Given the description of an element on the screen output the (x, y) to click on. 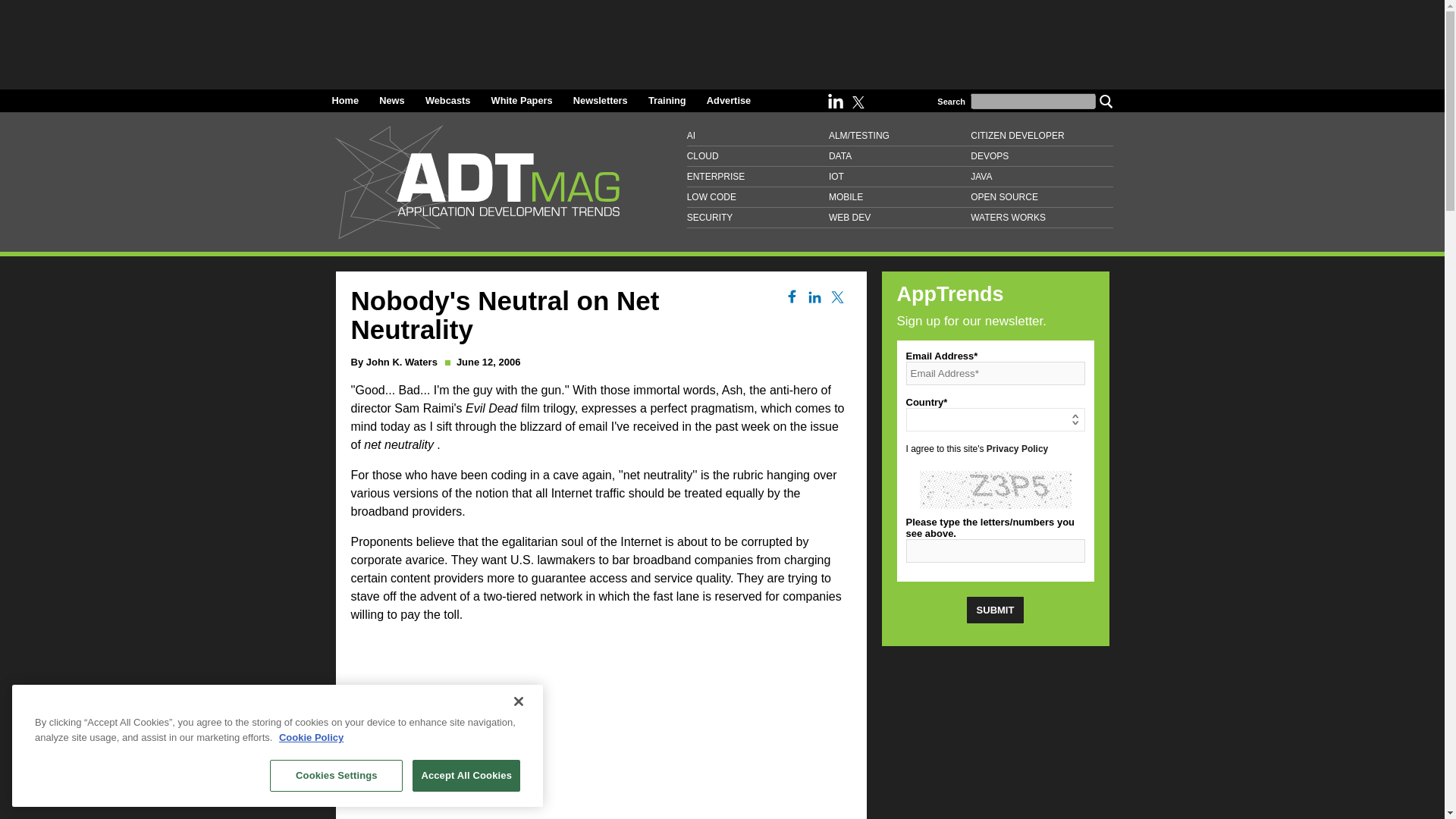
MOBILE (899, 197)
DEVOPS (1041, 156)
3rd party ad content (994, 739)
DATA (899, 156)
JAVA (1041, 177)
WEB DEV (899, 218)
3rd party ad content (600, 727)
CITIZEN DEVELOPER (1041, 136)
White Papers (522, 100)
Advertise (728, 100)
CLOUD (757, 156)
WATERS WORKS (1041, 218)
Training (666, 100)
ENTERPRISE (757, 177)
Newsletters (600, 100)
